Given the description of an element on the screen output the (x, y) to click on. 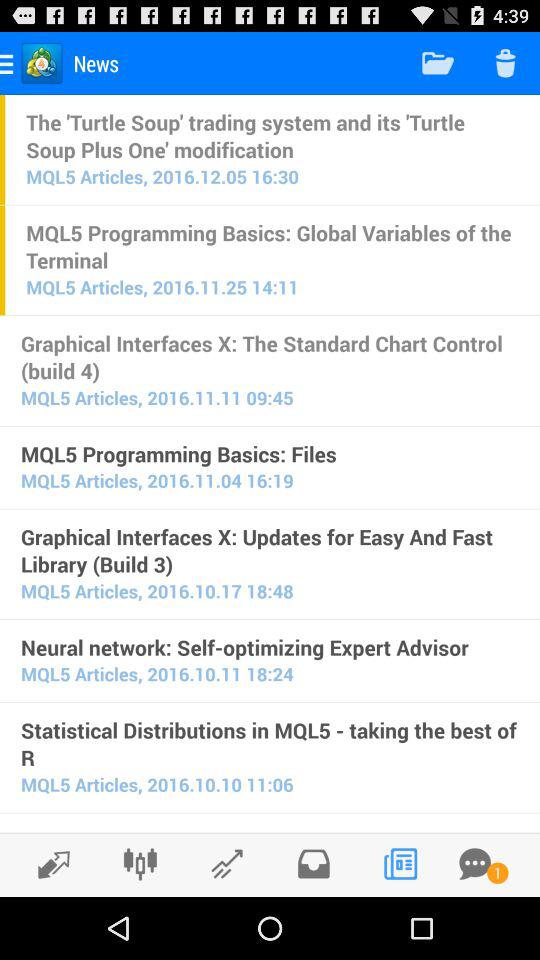
get message (475, 864)
